Given the description of an element on the screen output the (x, y) to click on. 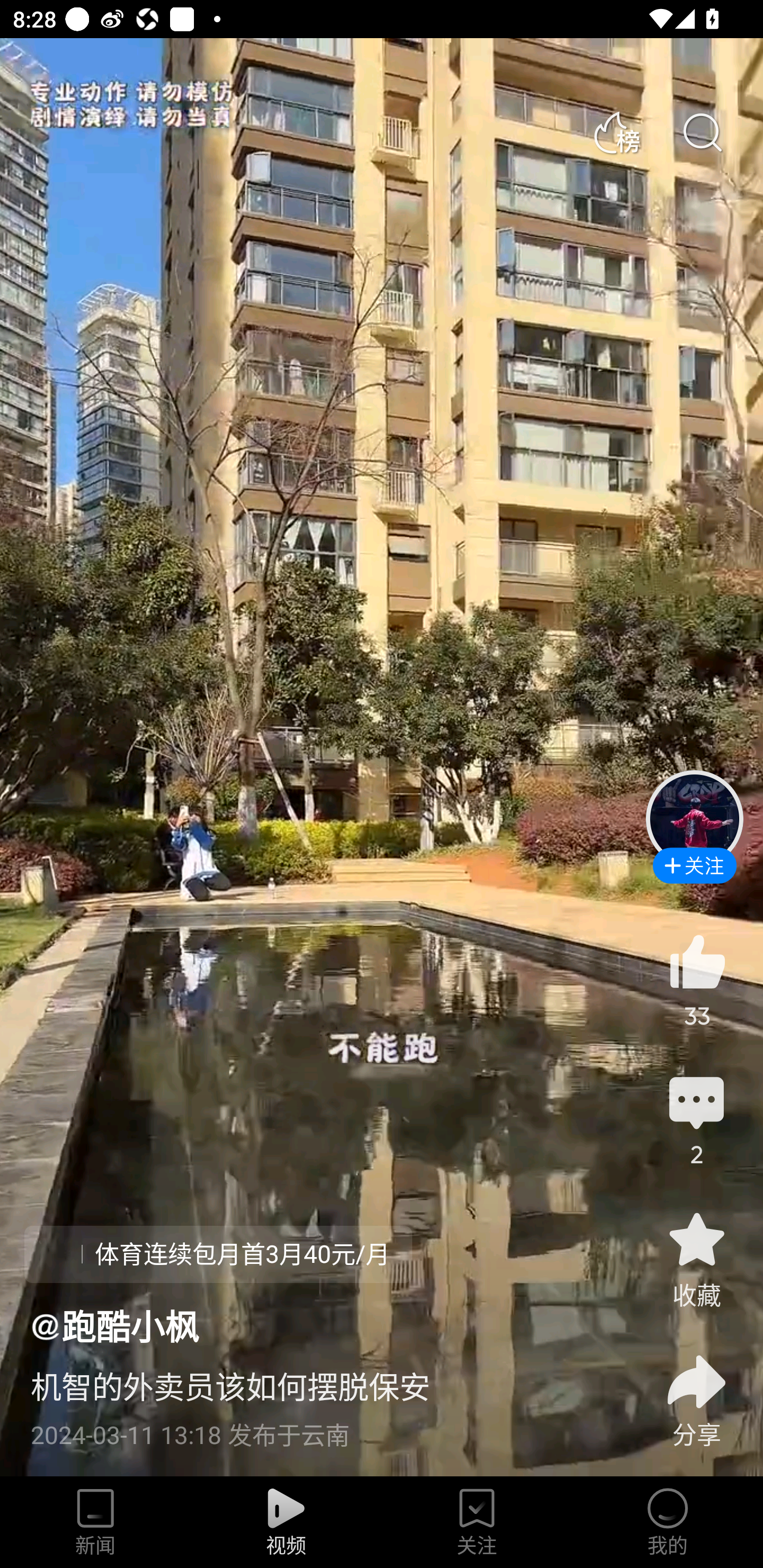
 热榜 (616, 133)
 搜索 (701, 133)
赞 33 (696, 979)
评论  2 (696, 1118)
收藏 (696, 1258)
体育连续包月首3月40元/月 (218, 1254)
跑酷小枫 (114, 1325)
分享  分享 (696, 1389)
机智的外卖员该如何摆脱保安 2024-03-11 13:18 发布于云南 (321, 1399)
